Given the description of an element on the screen output the (x, y) to click on. 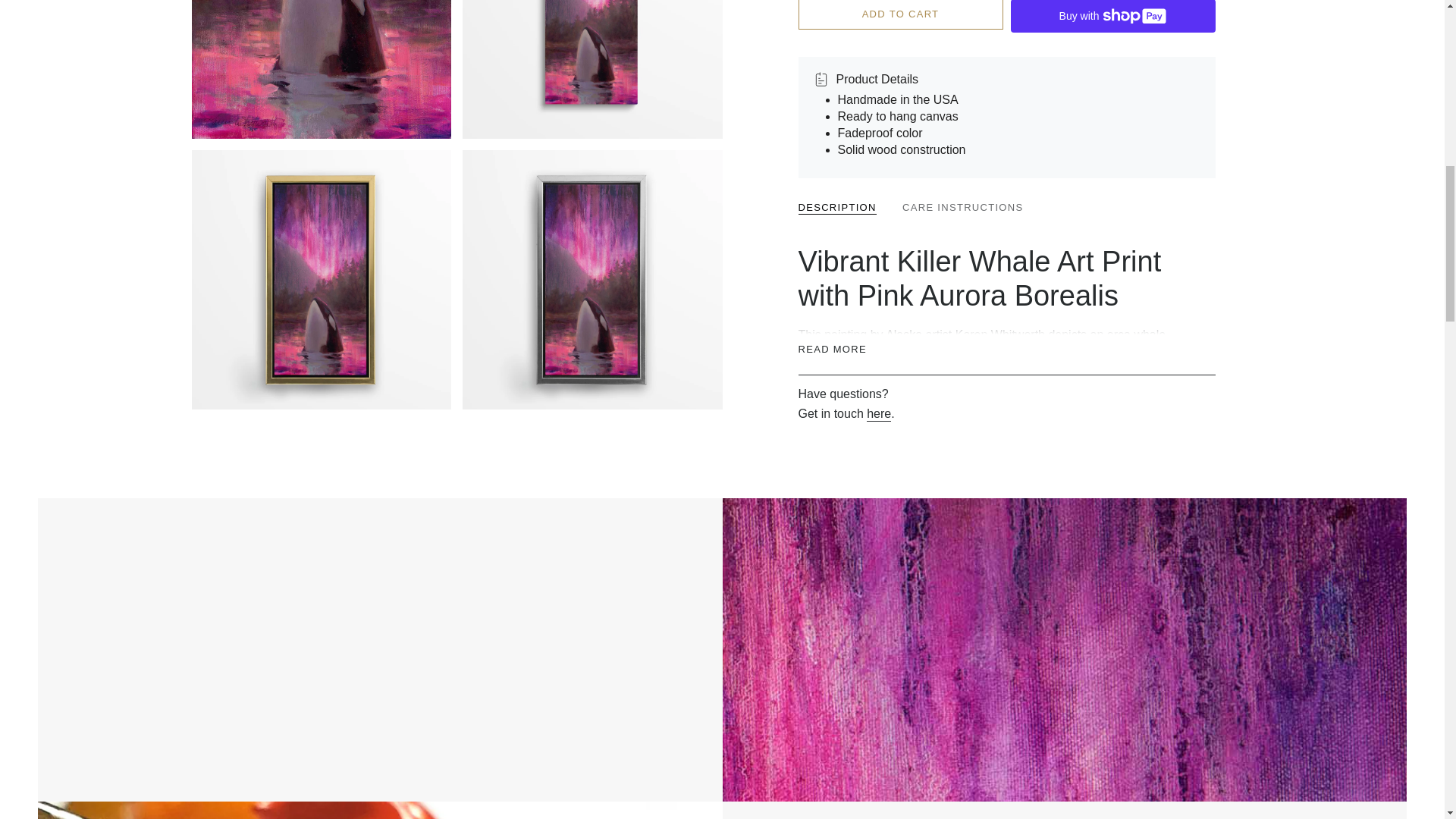
Contact Us (878, 128)
